Given the description of an element on the screen output the (x, y) to click on. 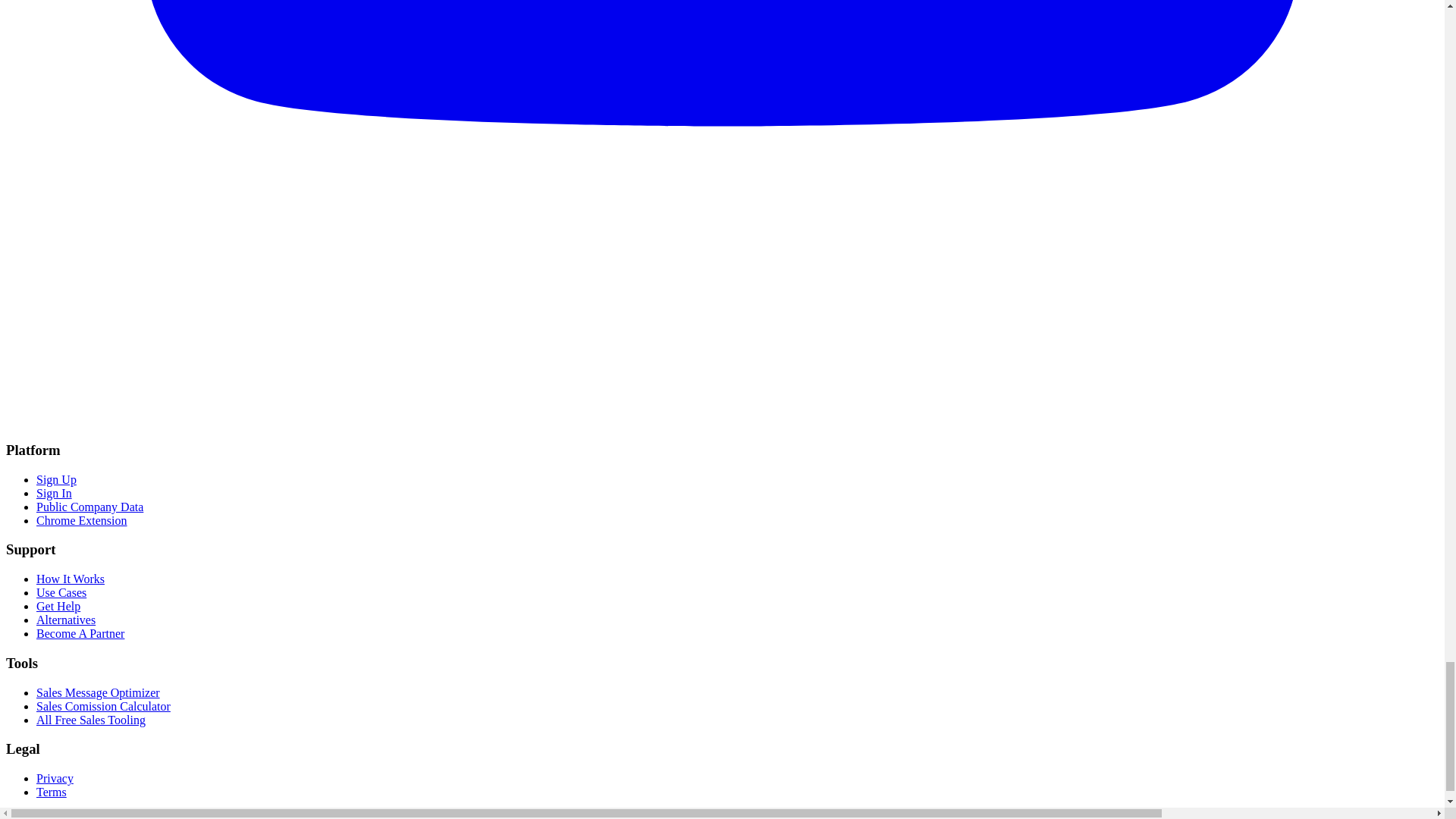
Chrome Extension (82, 520)
Public Company Data (89, 506)
Get Help (58, 605)
Use Cases (60, 592)
Become A Partner (79, 633)
Terms (51, 791)
How It Works (70, 578)
Sales Message Optimizer (98, 692)
Privacy (55, 778)
